Given the description of an element on the screen output the (x, y) to click on. 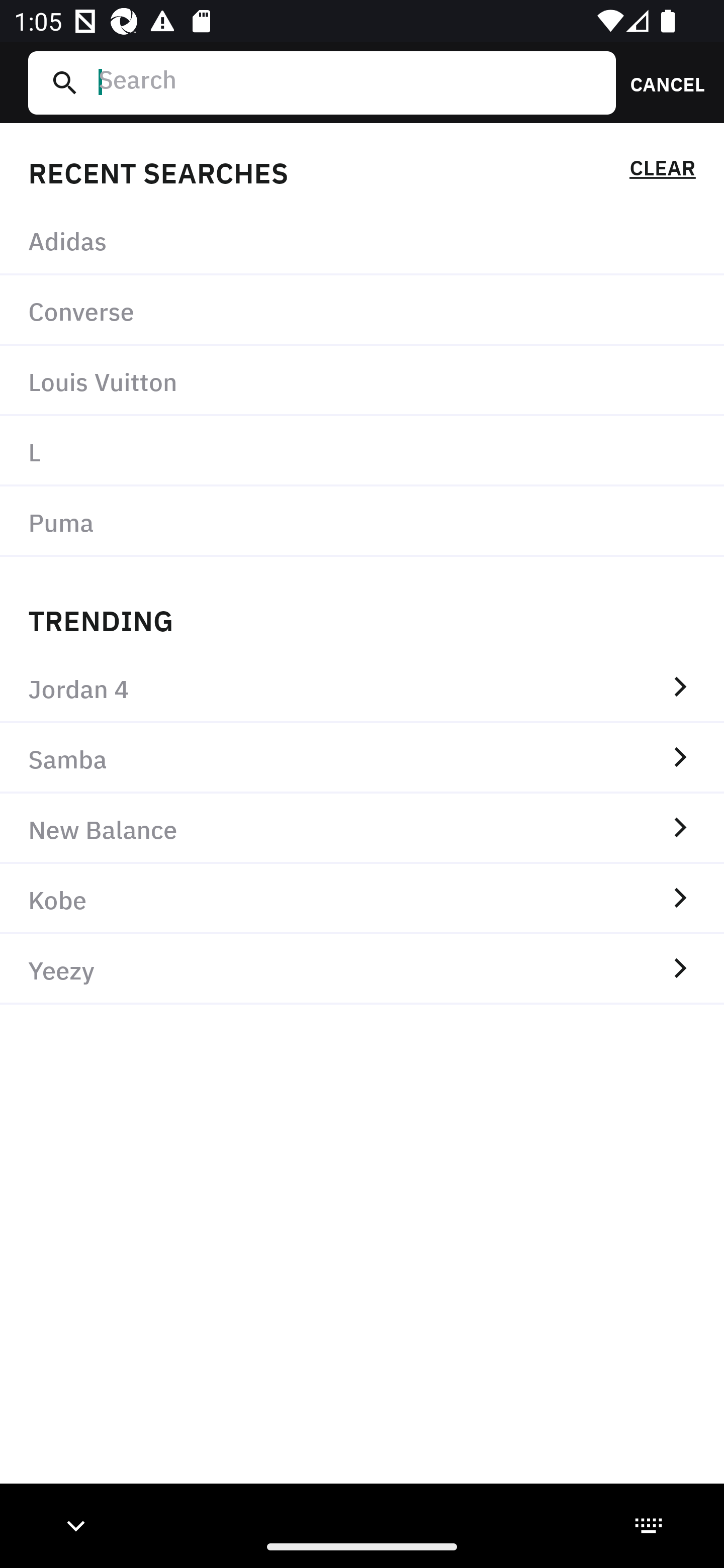
CANCEL (660, 82)
Search (349, 82)
CLEAR (662, 170)
Adidas (362, 240)
Converse (362, 310)
Louis Vuitton (362, 380)
L (362, 450)
Puma (362, 521)
Jordan 4  (362, 687)
Samba  (362, 757)
New Balance  (362, 828)
Kobe  (362, 898)
Yeezy  (362, 969)
